Given the description of an element on the screen output the (x, y) to click on. 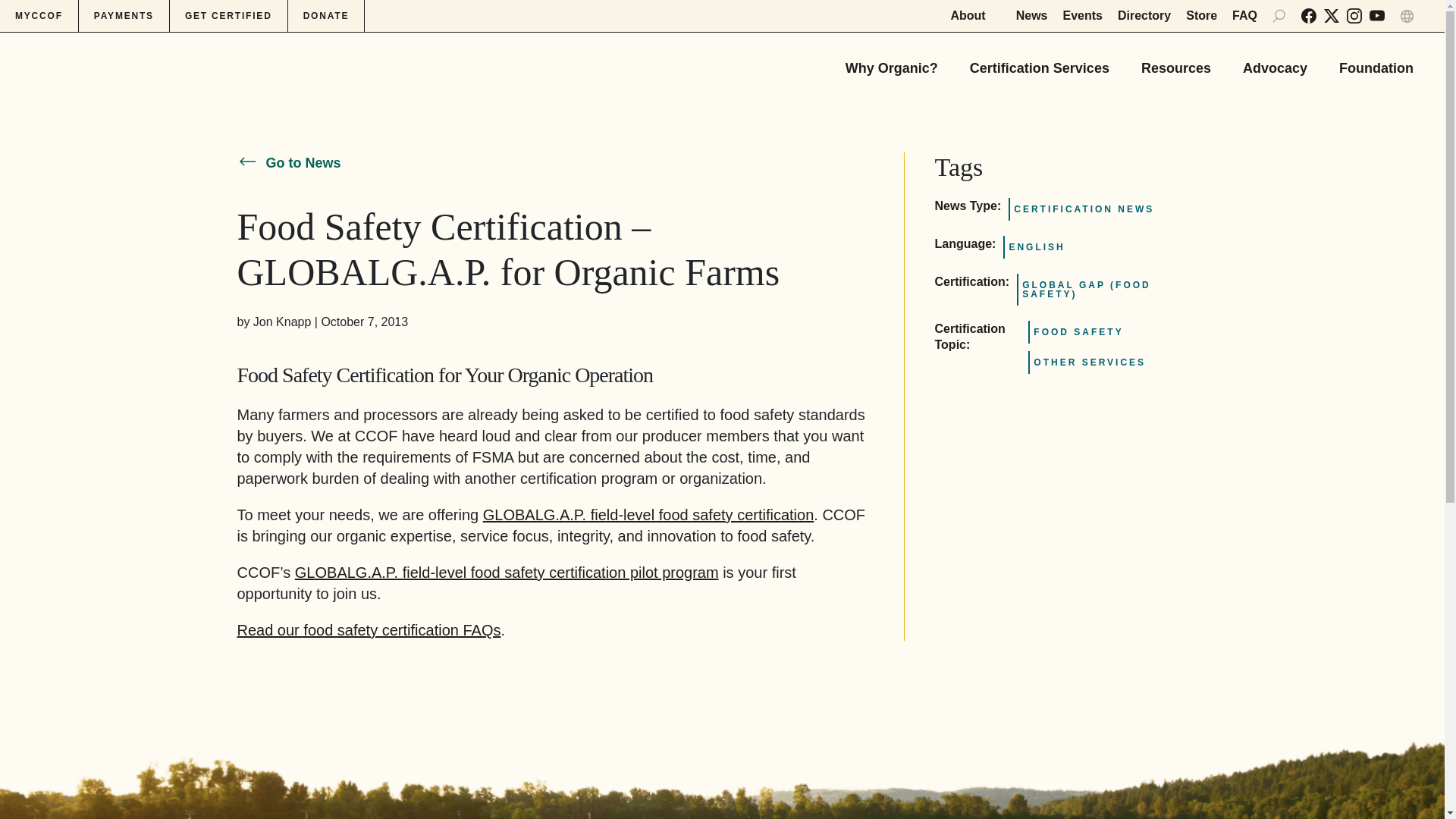
PAYMENTS (124, 15)
GET CERTIFIED (229, 15)
Certification Services (1039, 61)
Why Organic? (891, 61)
Store (1201, 15)
FAQ (1244, 15)
About (975, 15)
MYCCOF (39, 15)
change language (1406, 16)
DONATE (326, 15)
